Given the description of an element on the screen output the (x, y) to click on. 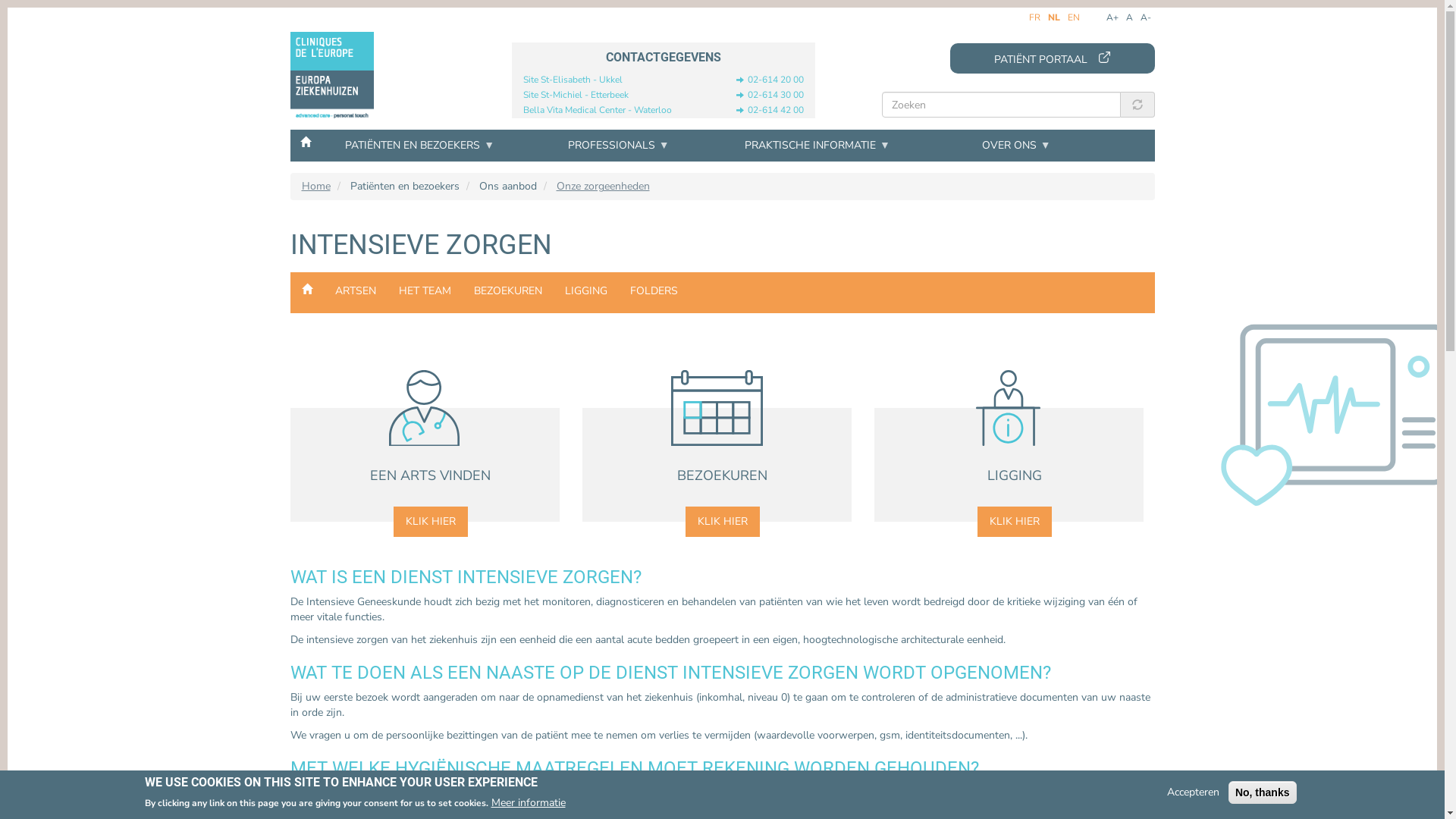
JURIDISCHE DIENST Element type: text (1034, 372)
STEUN EN DONATIES Element type: text (602, 317)
No, thanks Element type: text (1262, 792)
Onze zorgeenheden Element type: text (602, 185)
OP BEZOEK Element type: text (819, 317)
INTERCULTURELE BEMIDDELING Element type: text (1034, 335)
Accepteren Element type: text (1193, 792)
RAADPLEGINGEN Element type: text (602, 205)
HOME Element type: text (304, 140)
HOSPITALISATIES Element type: text (818, 205)
INFORMATIE BIJ OVERLIJDEN Element type: text (1034, 317)
ONZE ZORGEENHEDEN Element type: text (306, 292)
PERS Element type: text (387, 354)
VACCINATION Element type: text (602, 354)
OVER ONS Element type: text (1015, 145)
NL Element type: text (1054, 17)
KLIK HIER Element type: text (429, 520)
TOEGANG Element type: text (387, 263)
KLIK HIER Element type: text (722, 520)
VRIJWILLIGERS Element type: text (1034, 263)
ONTSLAG Element type: text (819, 354)
FACTURATION CONSULTATION Element type: text (602, 281)
OP RAADPLEGING KOMEN Element type: text (602, 263)
ONZE MEDISCHE EN PARAMEDISCHE DIENSTEN Element type: text (387, 267)
HET TEAM Element type: text (423, 291)
ONZE ARTSEN EN ZORGVERLENERS Element type: text (387, 244)
POLIKLINIEK HALLE Element type: text (602, 299)
ONS AANBOD Element type: text (386, 205)
OMBUDSDIENST (KLACHTEN) Element type: text (1034, 354)
ARTSEN Element type: text (354, 291)
MEDISCH DOSSIERS Element type: text (1034, 281)
Home Element type: text (315, 185)
LIGGING Element type: text (585, 291)
ONZE MULTIDISCIPLINAIRE KLINIEKEN Element type: text (387, 290)
KAMERRESERVATIE Element type: text (819, 263)
PASTORALE DIENST Element type: text (1034, 390)
STRATEGIE HORIZON 2025 Element type: text (387, 335)
FOLDERS Element type: text (653, 291)
BURGERLIJKE STAND Element type: text (1034, 299)
PROFESSIONALS Element type: text (618, 145)
ONDERSTEUNENDE DIENSTEN Element type: text (1035, 205)
HUISARTSEN EN EXTERNE ZORGVERLENERS Element type: text (387, 249)
LABO - COMPENDIUM Element type: text (387, 317)
BEZOEKUREN Element type: text (507, 291)
WIFI NETWERK Element type: text (387, 299)
Meer informatie Element type: text (528, 801)
FR Element type: text (1033, 17)
VEELGESTELDE VRAGEN Element type: text (387, 281)
HET VERBLIJF Element type: text (819, 299)
ONZE ZORGEENHEDEN Element type: text (387, 308)
PRAKTISCHE INFORMATIE Element type: text (817, 145)
FACTURE HOSPITALISATION Element type: text (819, 372)
Overslaan en naar de inhoud gaan Element type: text (7, 11)
EN Element type: text (1073, 17)
OPNAME OP DE SPOED Element type: text (819, 244)
KLIK HIER Element type: text (1013, 520)
UW HOSPITALISATIE VOORBEREIDEN Element type: text (819, 281)
NUTTIGE LINKEN Element type: text (602, 335)
EEN AFSPRAAK MAKEN OF ANNULEREN Element type: text (602, 244)
